Given the description of an element on the screen output the (x, y) to click on. 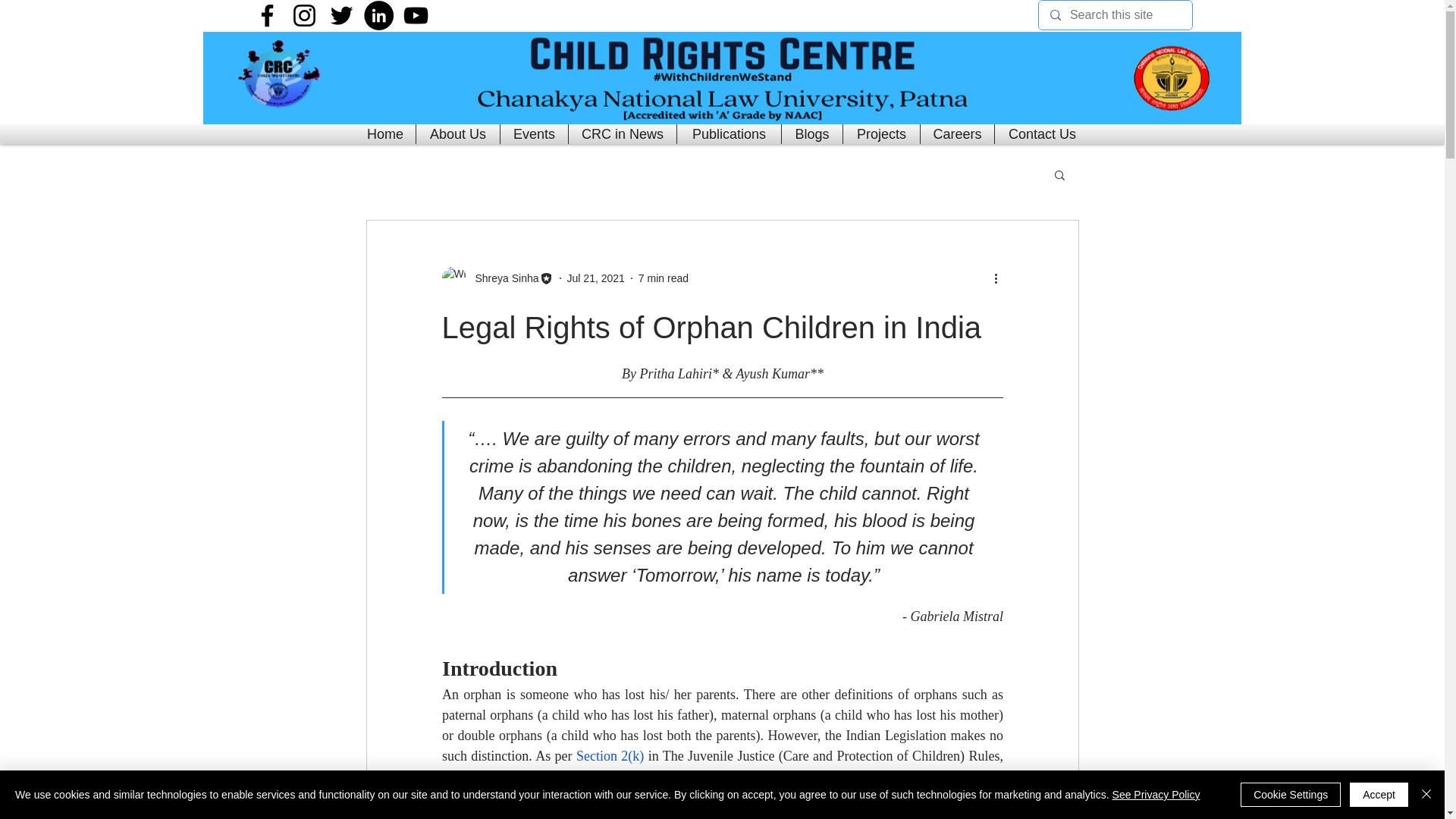
Jul 21, 2021 (595, 277)
Home (385, 134)
7 min read (663, 277)
CRC in News (622, 134)
Careers (957, 134)
Events (533, 134)
Publications (729, 134)
Shreya Sinha (501, 277)
Child Rights Centre, CNLU Patna (722, 77)
Contact Us (1042, 134)
